Given the description of an element on the screen output the (x, y) to click on. 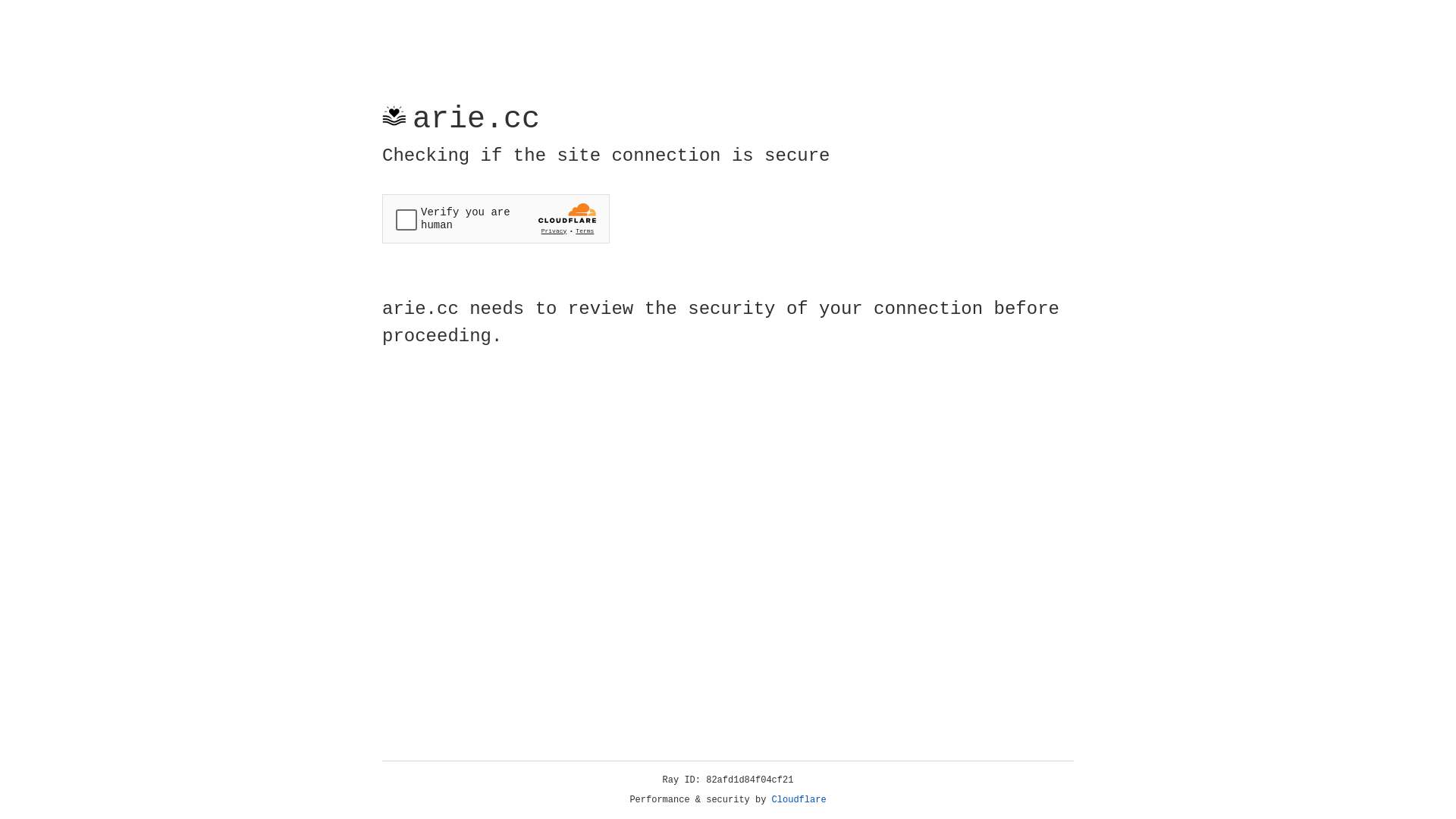
Widget containing a Cloudflare security challenge Element type: hover (495, 218)
Cloudflare Element type: text (798, 799)
